Given the description of an element on the screen output the (x, y) to click on. 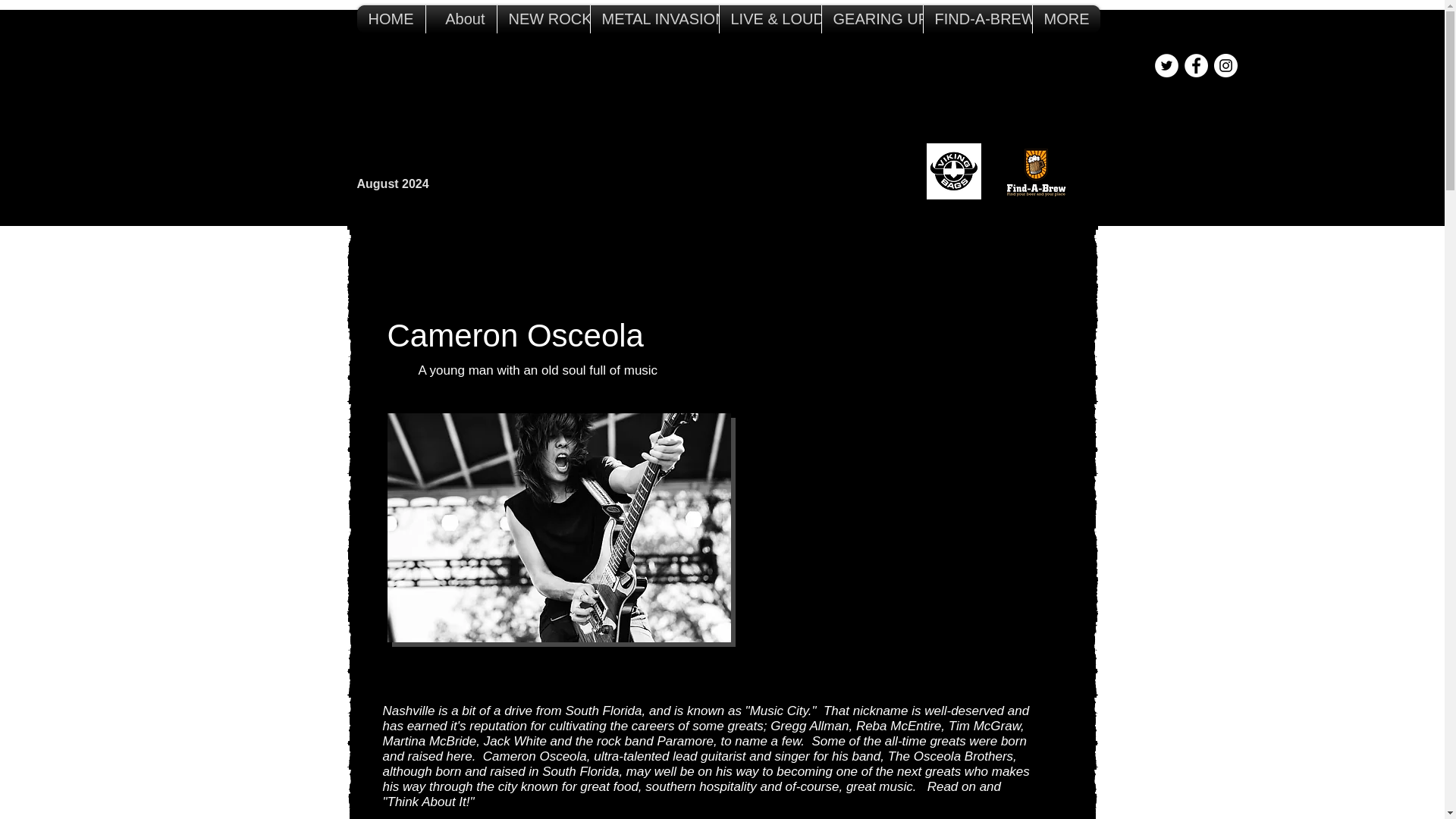
About (460, 18)
FIND-A-BREW (976, 18)
NEW ROCK (542, 18)
HOME (391, 18)
GEARING UP (871, 18)
METAL INVASION (654, 18)
